Given the description of an element on the screen output the (x, y) to click on. 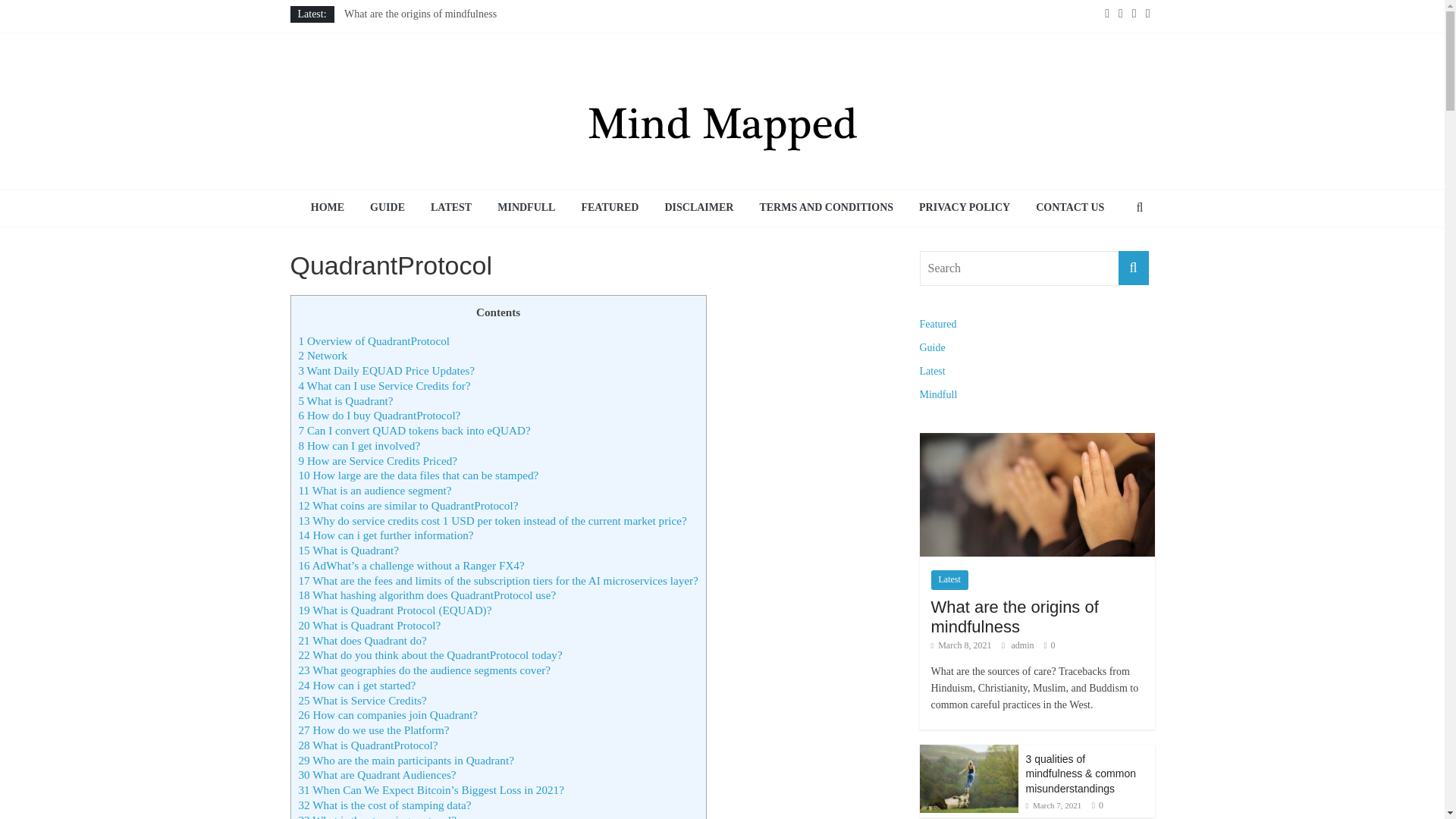
HOME (327, 208)
CONTACT US (1070, 208)
What are the origins of mindfulness (419, 13)
What are the origins of mindfulness (1036, 440)
6 How do I buy QuadrantProtocol? (379, 414)
15 What is Quadrant? (348, 549)
11 What is an audience segment? (374, 490)
5 What is Quadrant? (345, 400)
14 How can i get further information? (386, 534)
